Given the description of an element on the screen output the (x, y) to click on. 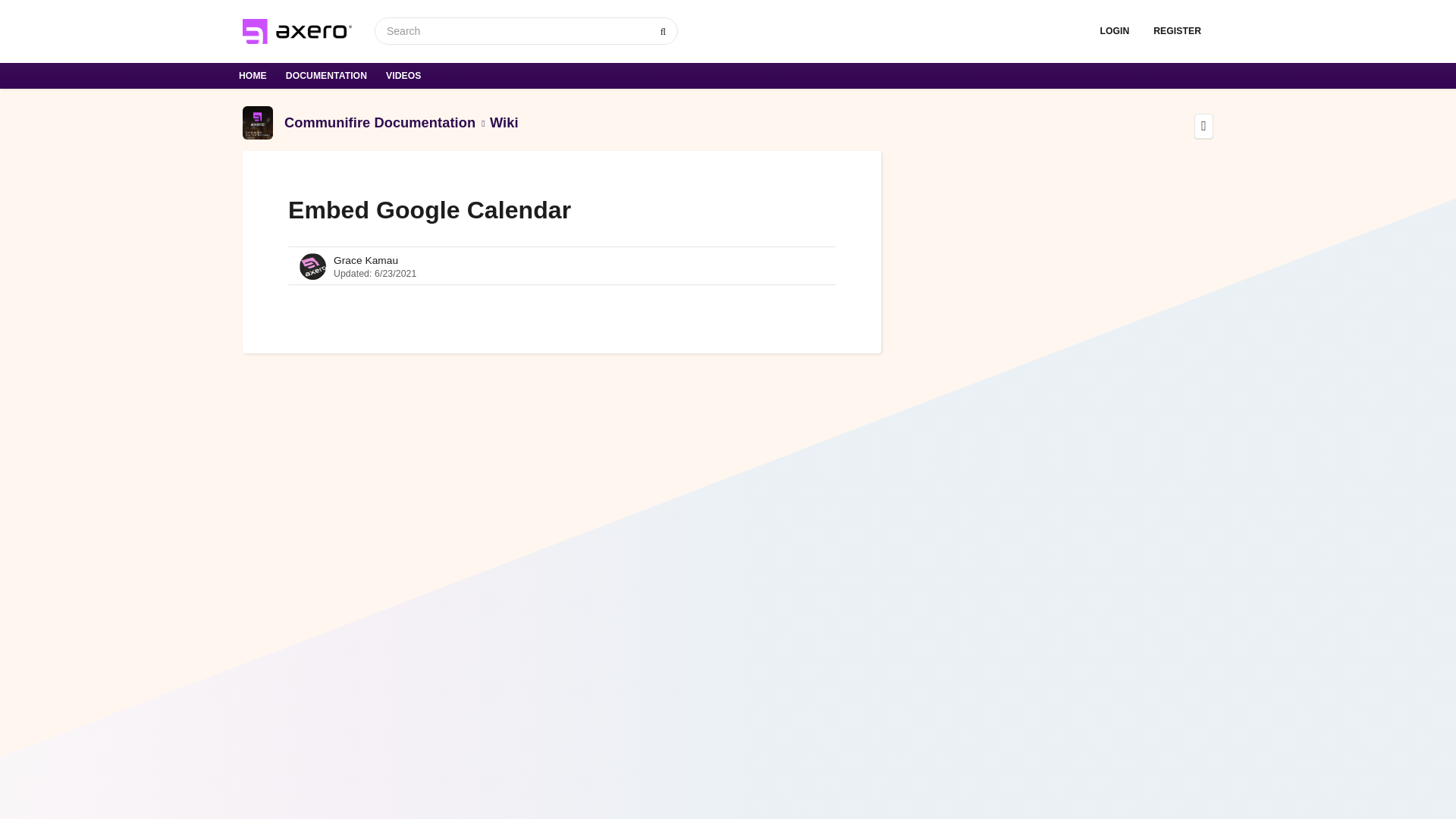
DOCUMENTATION (328, 75)
Search (663, 31)
Home (254, 75)
REGISTER (1176, 31)
Communifire Documentation (379, 122)
HOME (254, 75)
Register (1176, 31)
Grace Kamau (365, 260)
LOGIN (1114, 31)
Login (1114, 31)
